Given the description of an element on the screen output the (x, y) to click on. 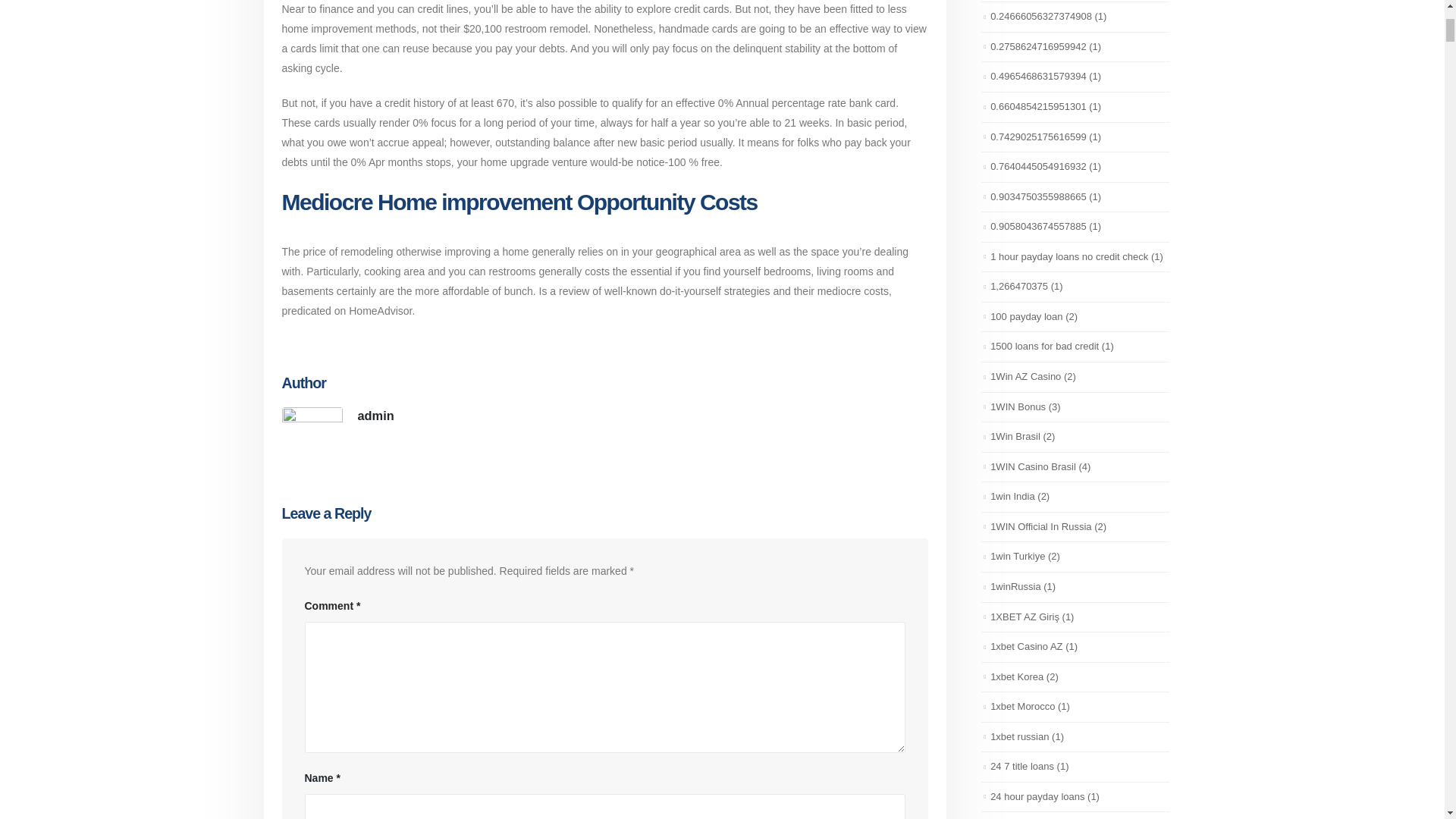
Posts by admin (376, 415)
